Given the description of an element on the screen output the (x, y) to click on. 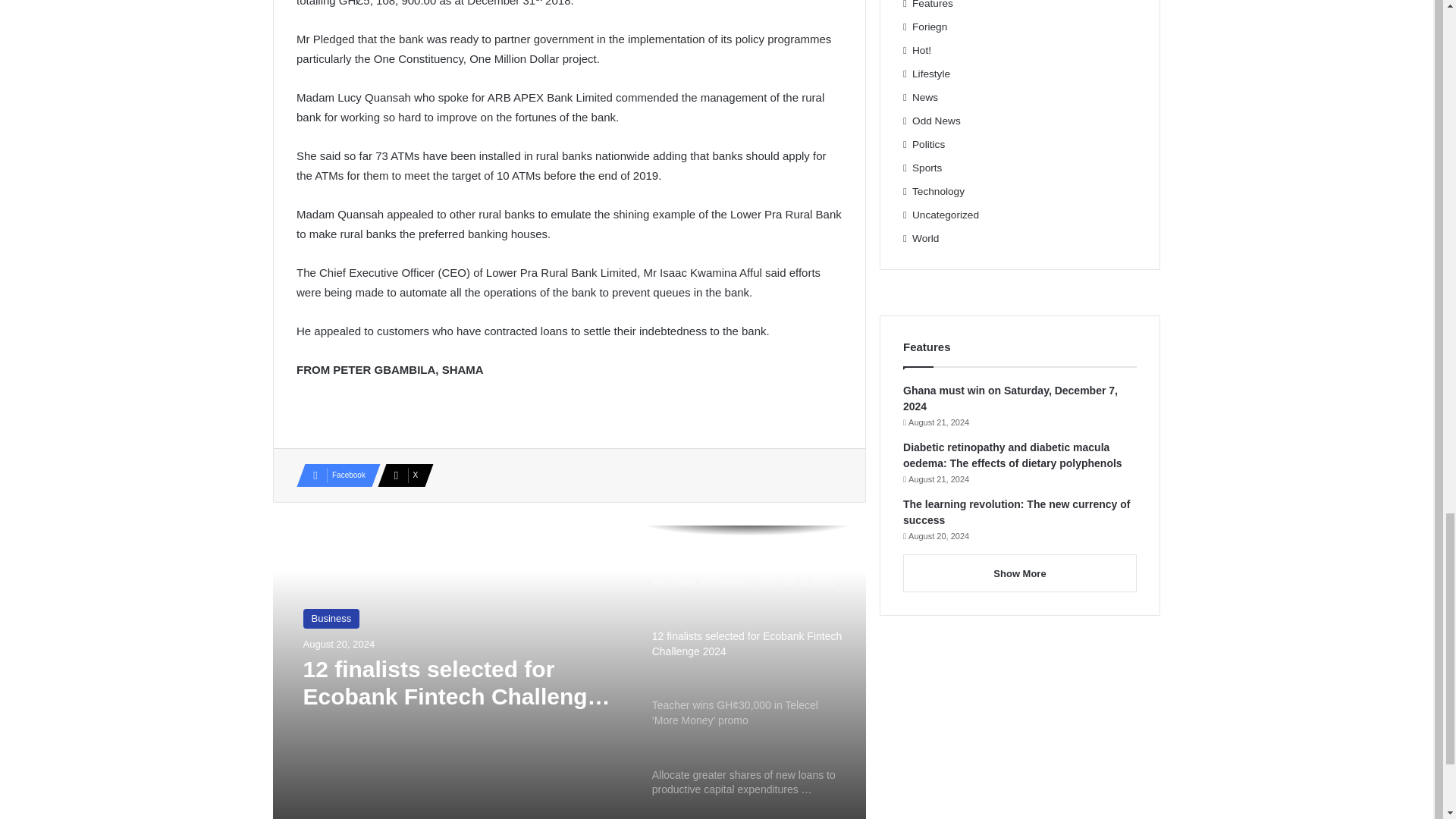
Business (330, 618)
Facebook (334, 475)
X (401, 475)
12 finalists selected for Ecobank Fintech Challenge 2024 (462, 683)
X (401, 475)
Facebook (334, 475)
